Given the description of an element on the screen output the (x, y) to click on. 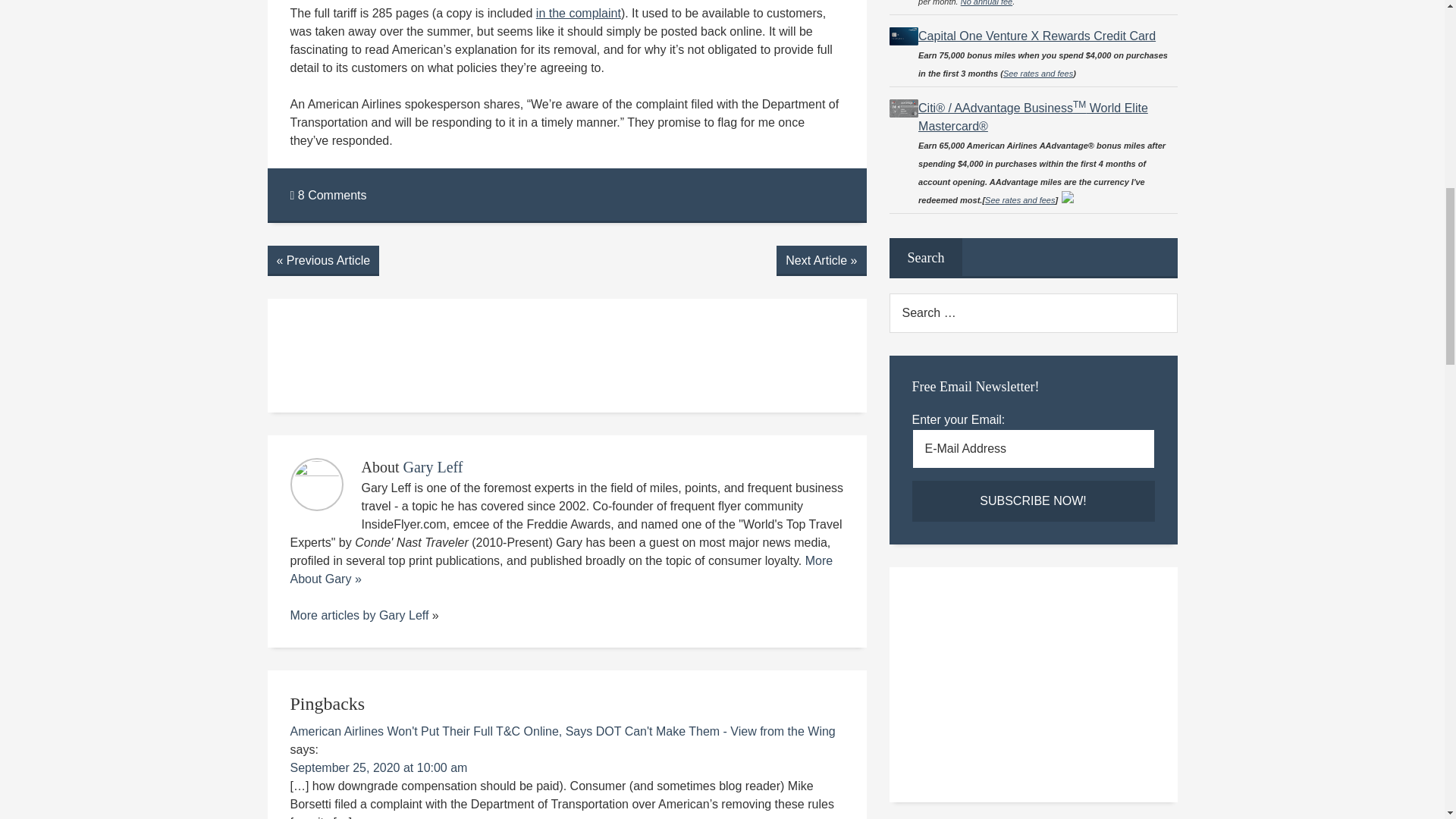
E-Mail Address (1032, 448)
Subscribe Now! (1032, 500)
More articles by (333, 615)
Gary Leff (433, 466)
8 Comments (327, 195)
in the complaint (578, 12)
September 25, 2020 at 10:00 am (378, 767)
Gary Leff (403, 615)
